Given the description of an element on the screen output the (x, y) to click on. 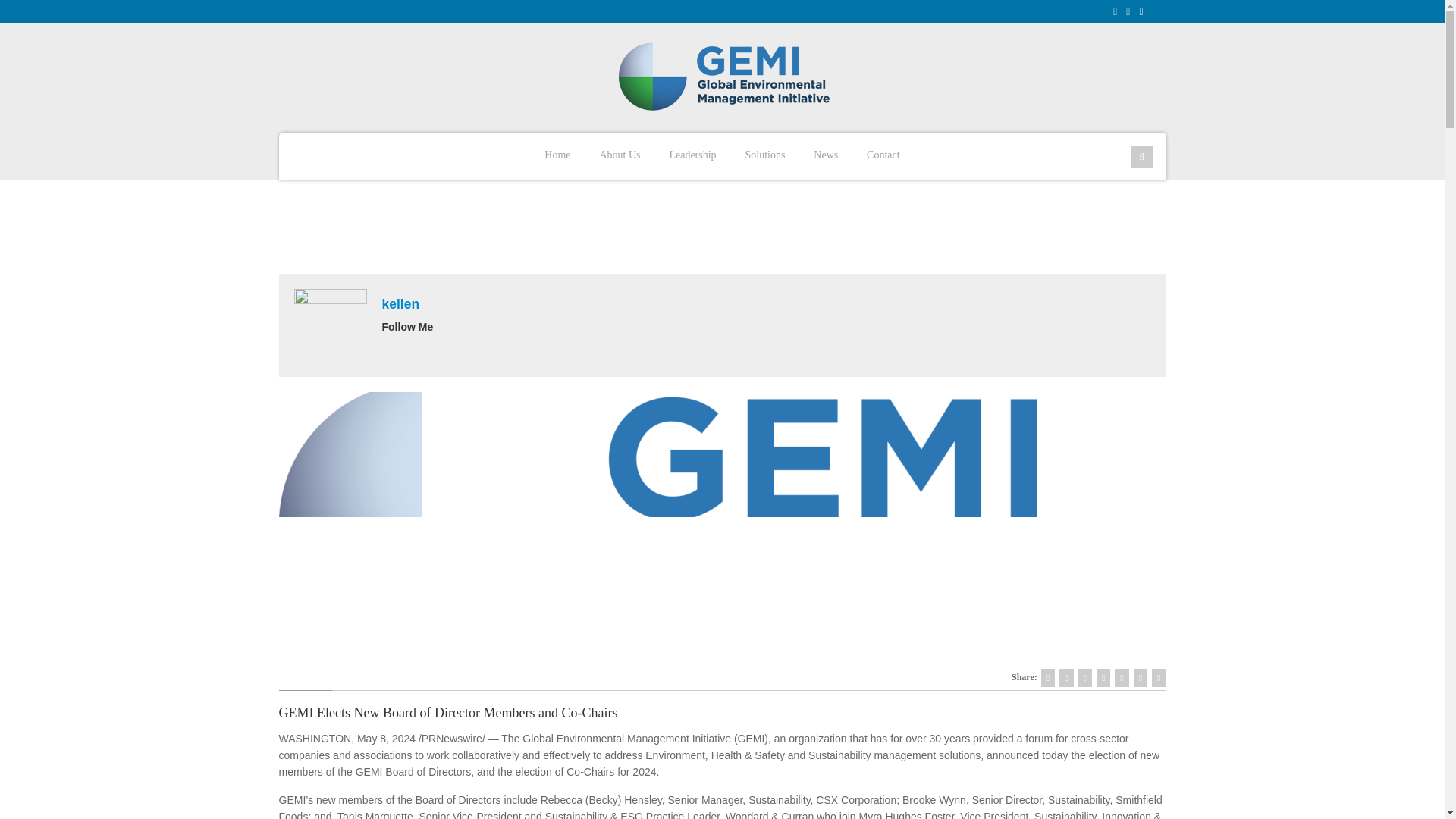
kellen (400, 304)
Solutions (764, 154)
Contact (882, 154)
Leadership (692, 154)
Home (557, 154)
News (825, 154)
GEMI Elects New Board of Director Members and Co-Chairs (448, 712)
About Us (619, 154)
